Given the description of an element on the screen output the (x, y) to click on. 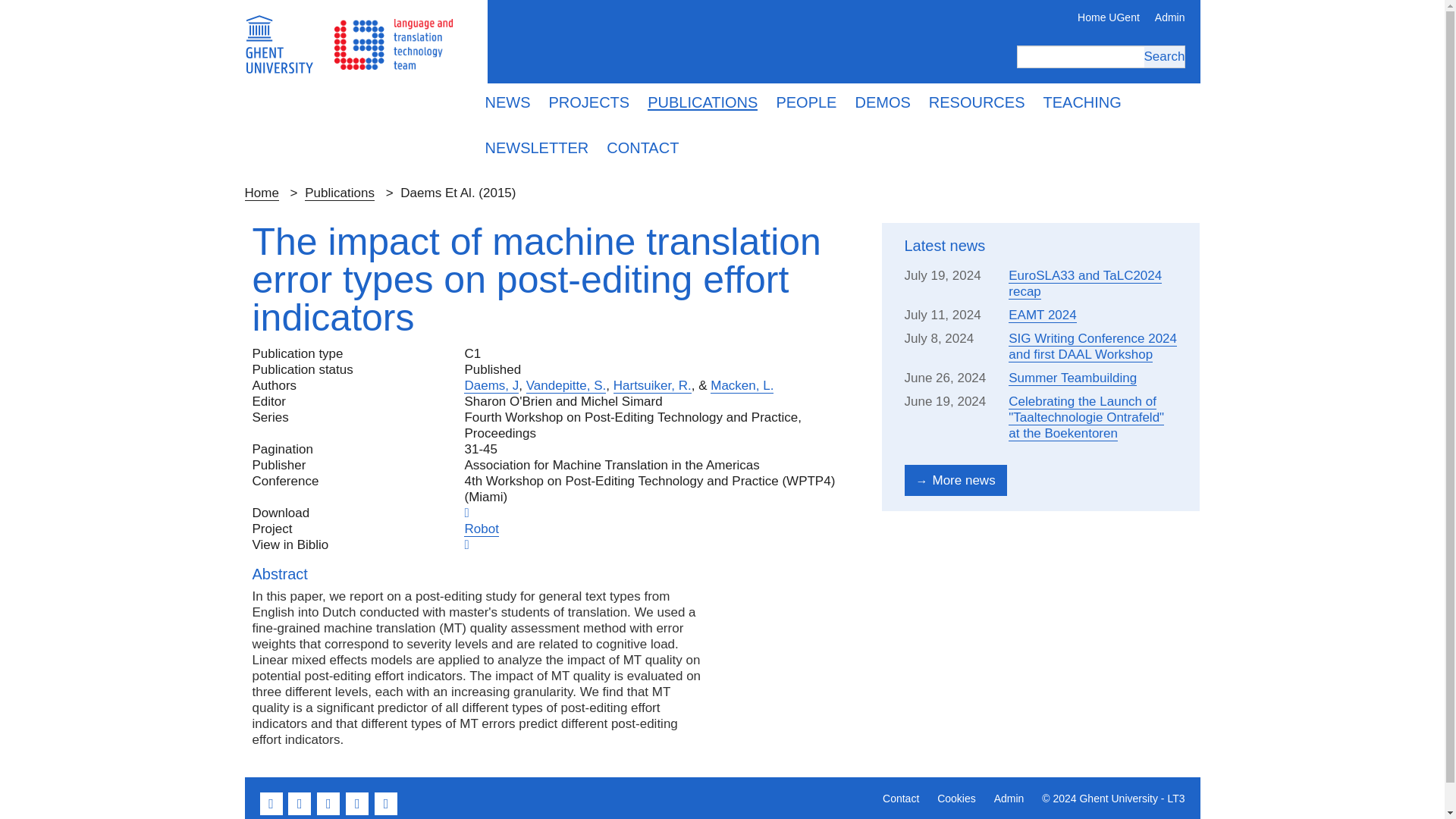
EAMT 2024 (1042, 314)
Hartsuiker, R. (651, 385)
Publications (339, 192)
Twitter (301, 811)
TEACHING (1082, 102)
PUBLICATIONS (703, 102)
EuroSLA33 and TaLC2024 recap (1085, 283)
More news (955, 480)
NEWS (508, 102)
Search (1162, 55)
